Given the description of an element on the screen output the (x, y) to click on. 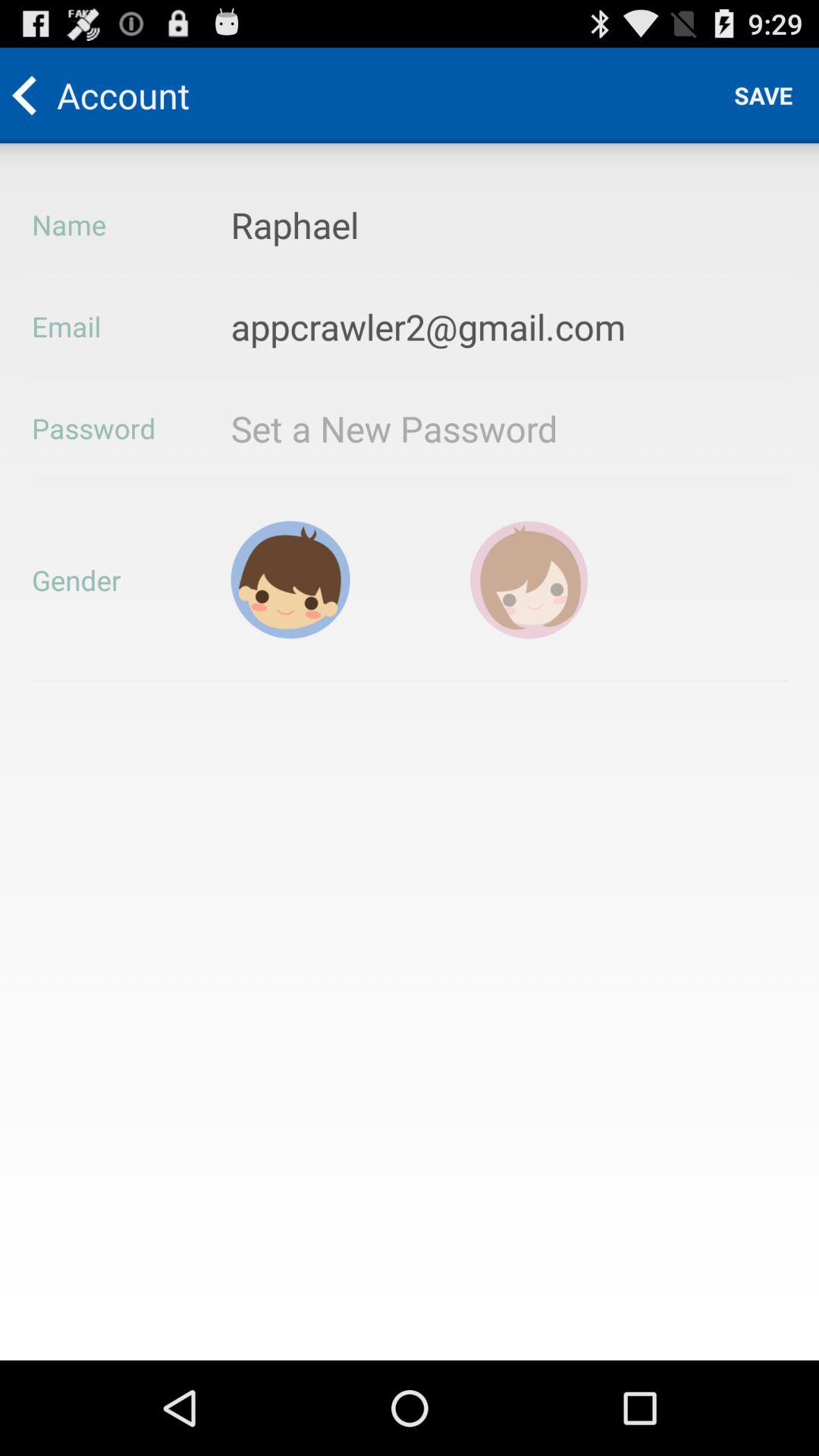
select gender (290, 579)
